Given the description of an element on the screen output the (x, y) to click on. 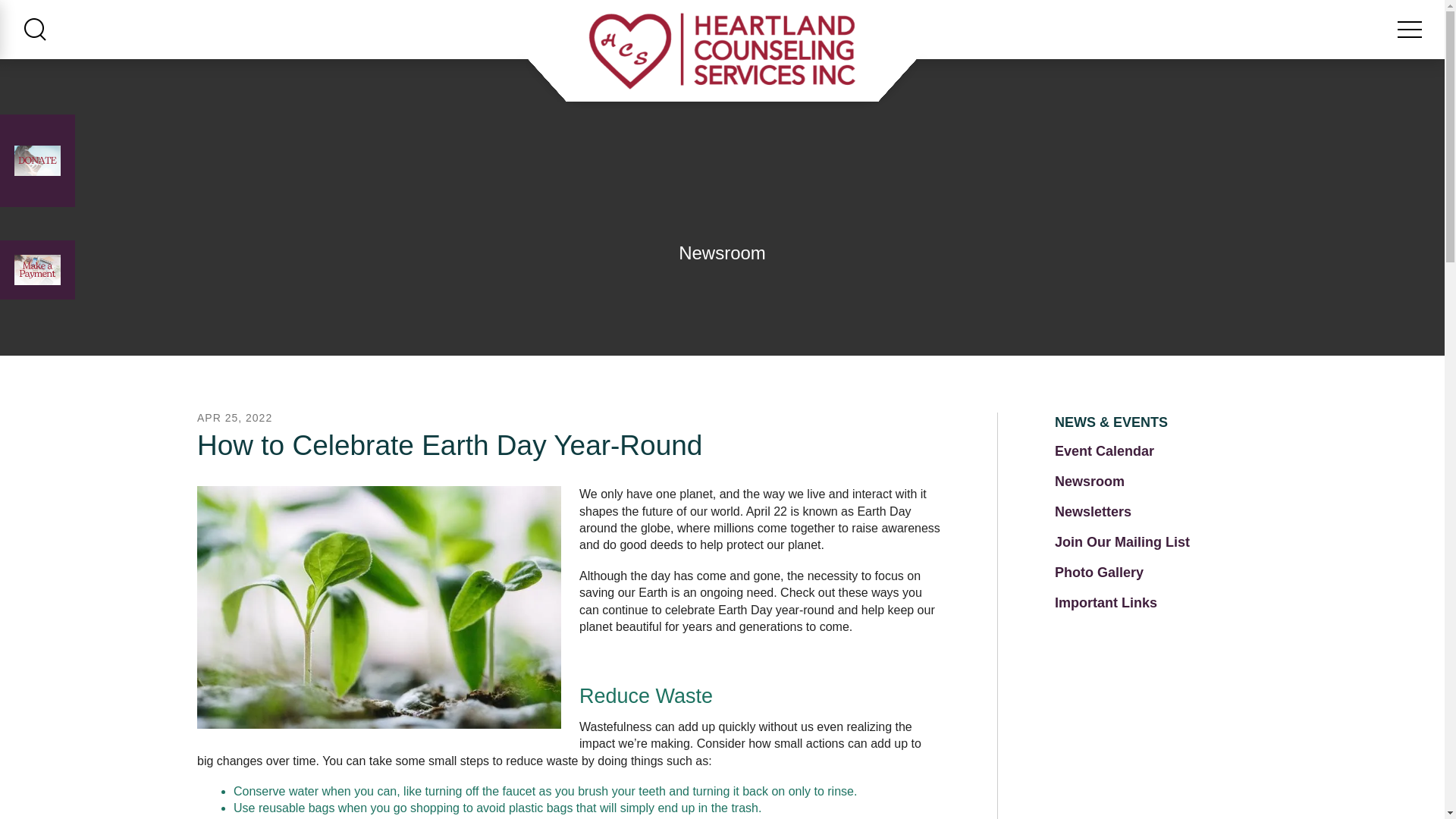
logo (721, 51)
